Given the description of an element on the screen output the (x, y) to click on. 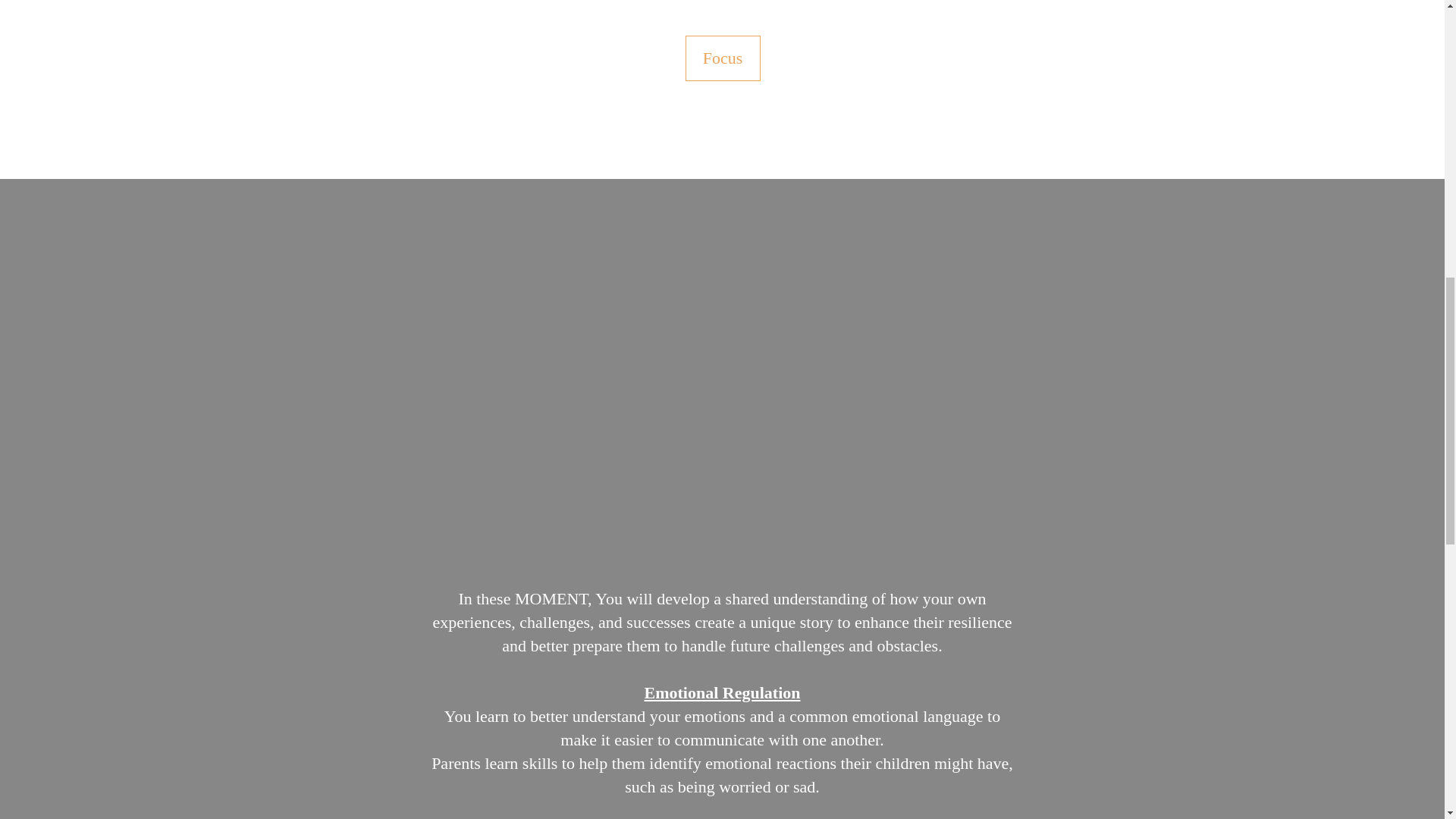
Focus (722, 58)
